Given the description of an element on the screen output the (x, y) to click on. 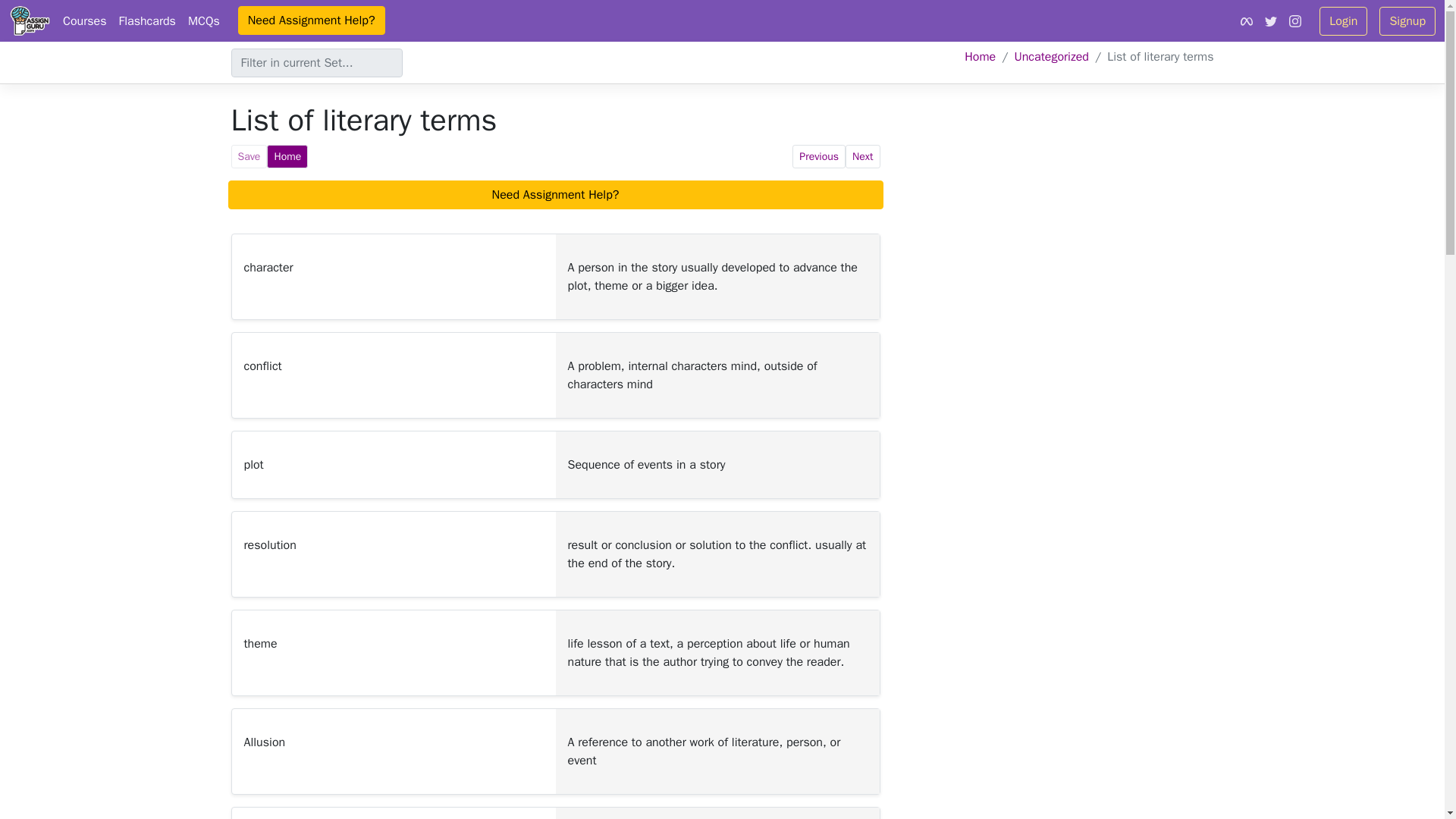
Previous Flashcard (818, 156)
MCQs (203, 20)
Flashcards (147, 20)
Need Assignment Help? (311, 20)
Home (979, 56)
Login (1343, 20)
Uncategorized (1050, 56)
Courses (84, 20)
Next (862, 156)
Signup (1406, 20)
Switch to Practice Mode (286, 156)
Previous (818, 156)
Home (286, 156)
Save (248, 156)
Next Flashcard (862, 156)
